Given the description of an element on the screen output the (x, y) to click on. 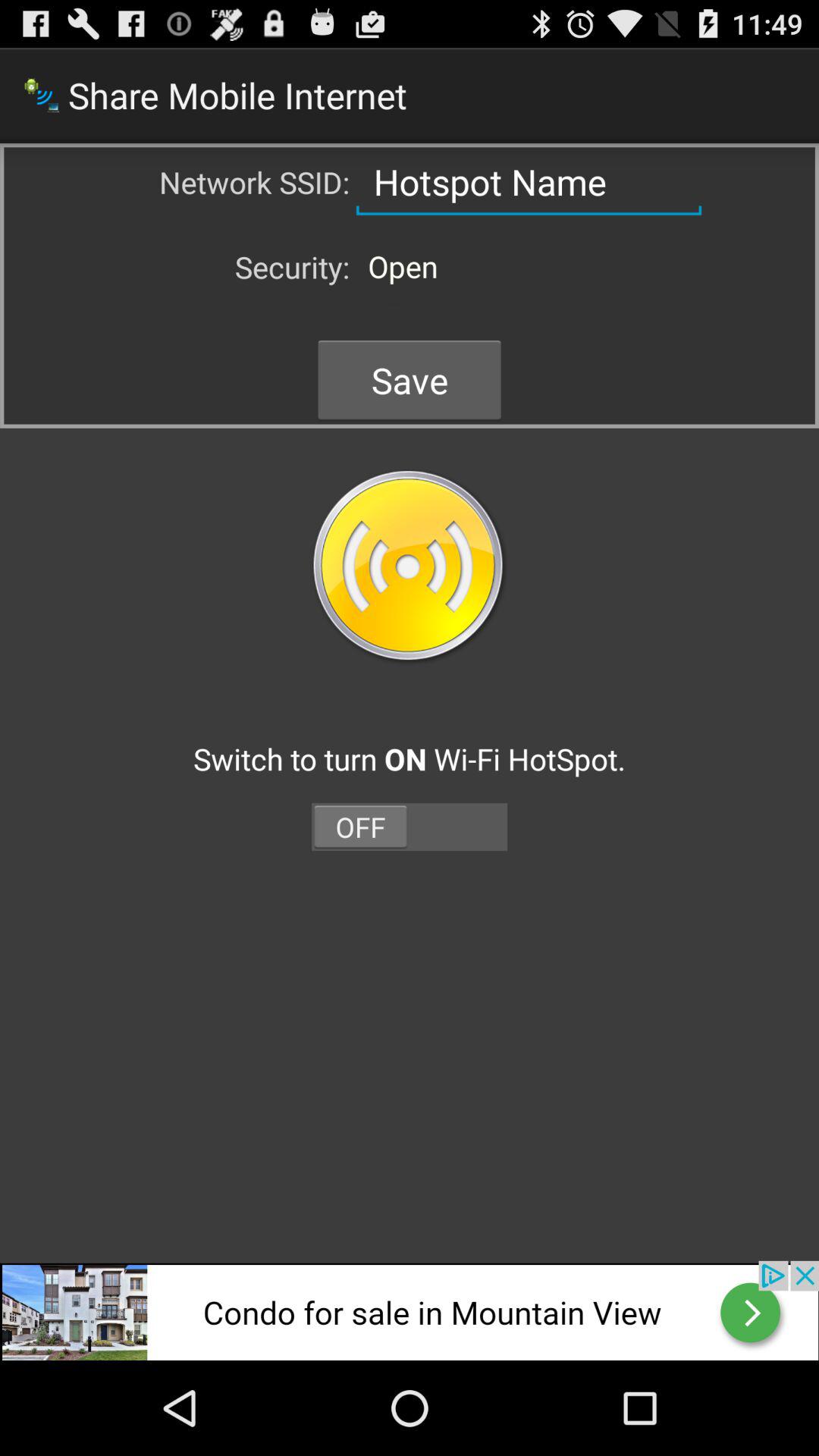
save button (409, 567)
